Given the description of an element on the screen output the (x, y) to click on. 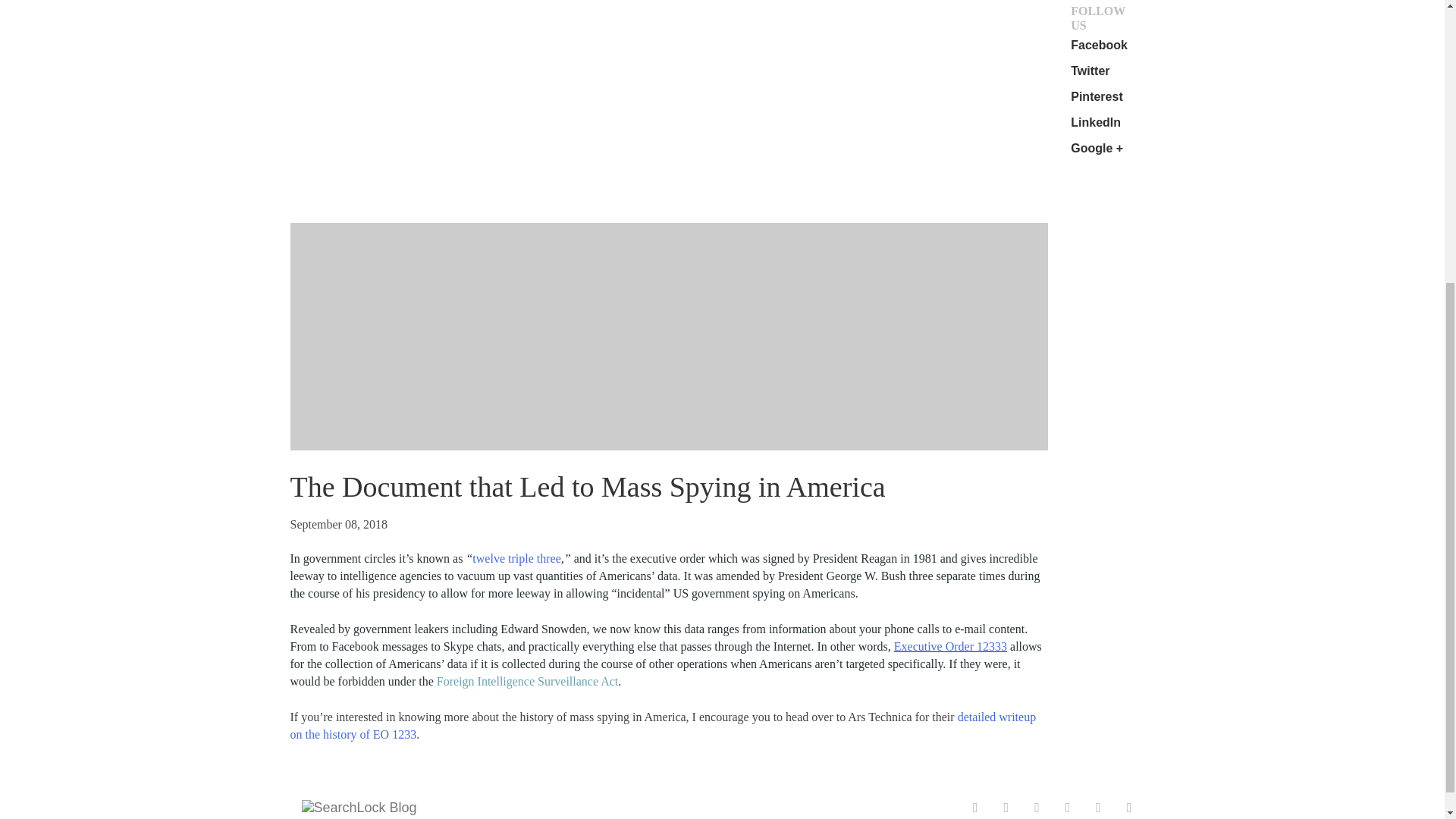
detailed writeup on the history of EO 1233 (662, 725)
Facebook (1098, 44)
Executive Order 12333 (950, 645)
Pinterest (1096, 96)
Twitter (1089, 70)
LinkedIn (1095, 122)
Foreign Intelligence Surveillance Act (526, 680)
twelve triple three (515, 558)
